Given the description of an element on the screen output the (x, y) to click on. 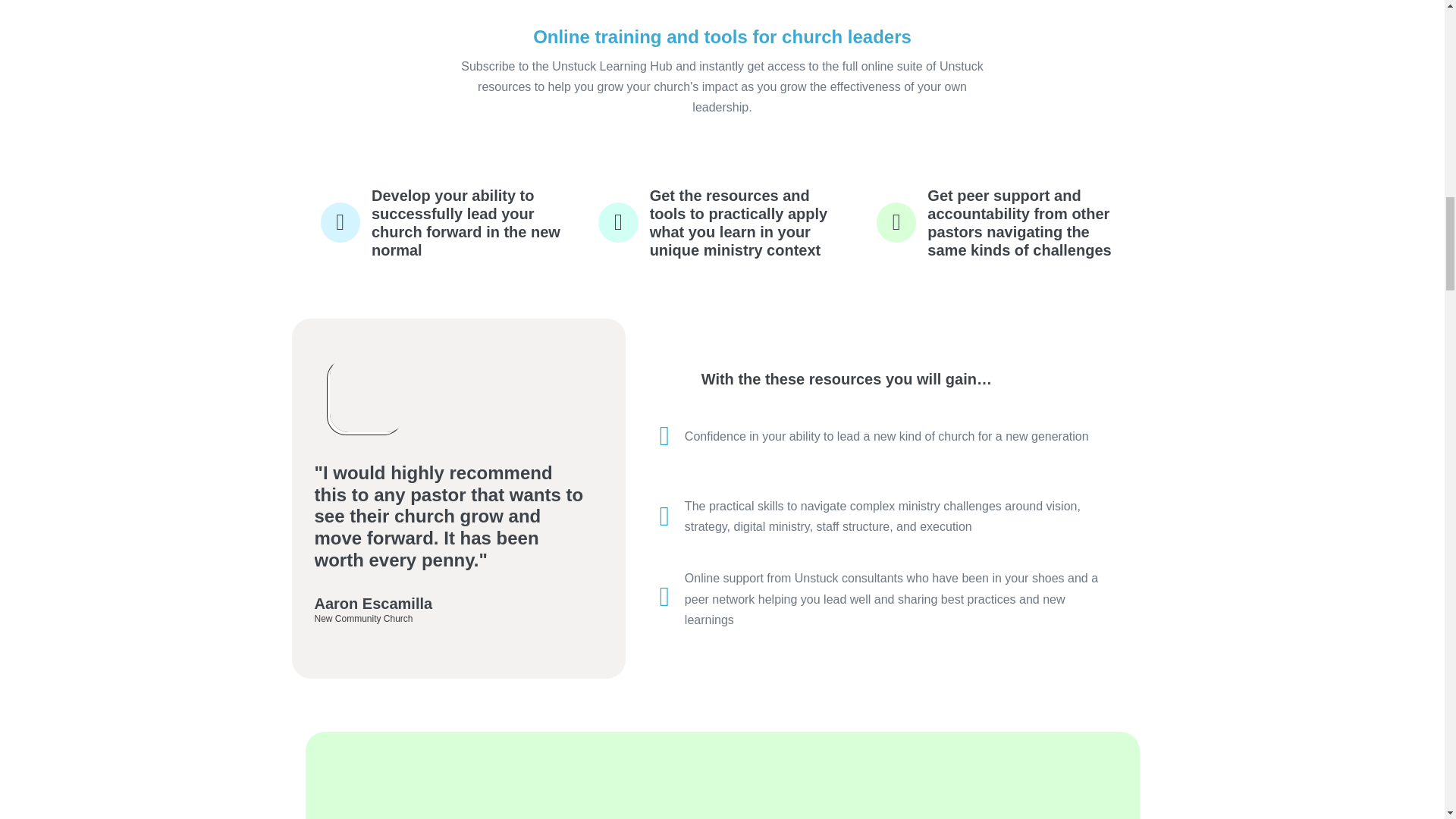
aaron escamilla (366, 394)
